Given the description of an element on the screen output the (x, y) to click on. 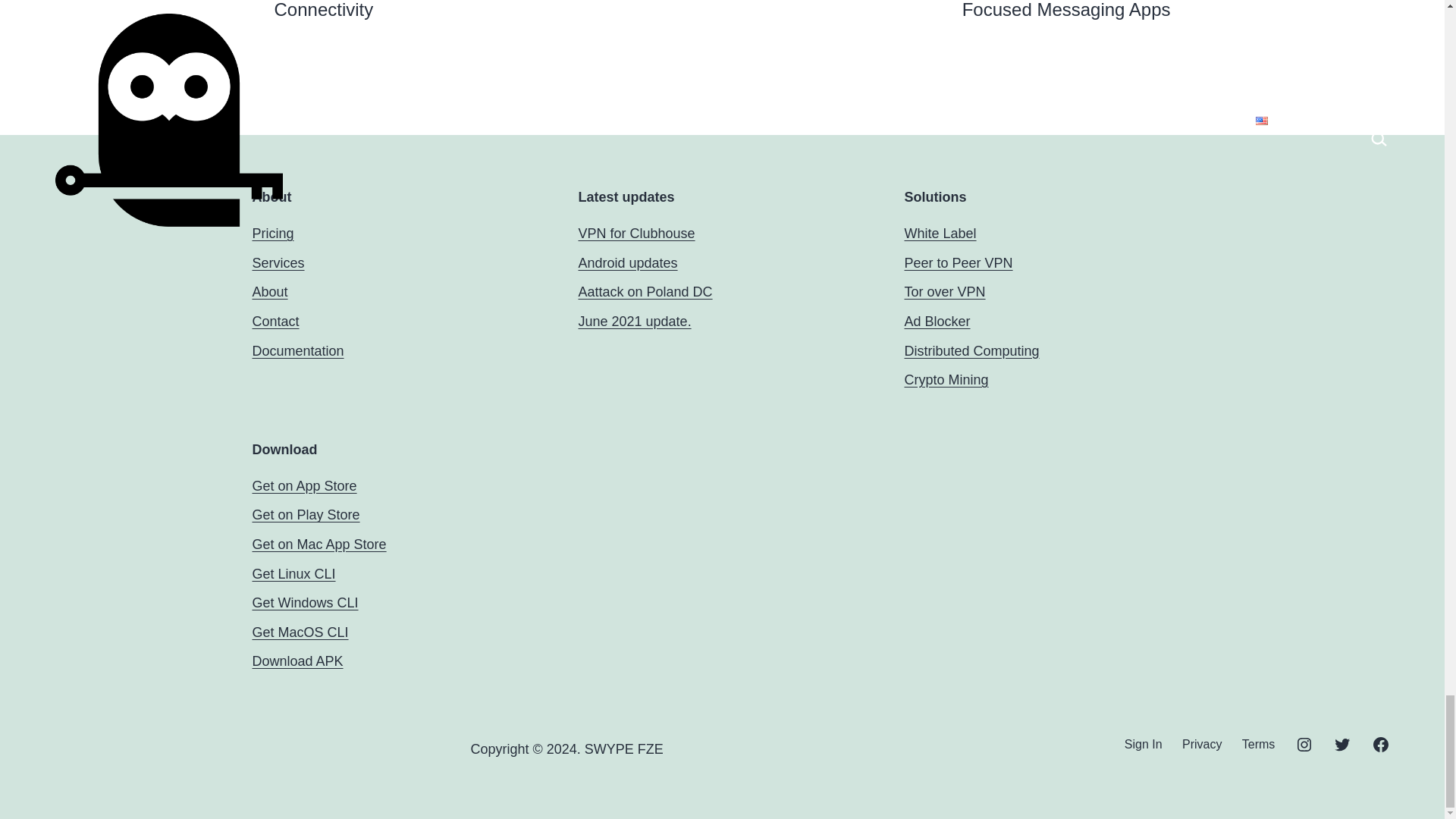
Tor over VPN (944, 291)
Distributed Computing (971, 350)
Peer to Peer VPN (957, 263)
Ad Blocker (936, 321)
June 2021 update. (634, 321)
Contact (274, 321)
About (268, 291)
Pricing (272, 233)
VPN for Clubhouse (636, 233)
Get on Play Store (305, 514)
Services (277, 263)
Get on Mac App Store (318, 544)
White Label (939, 233)
